Given the description of an element on the screen output the (x, y) to click on. 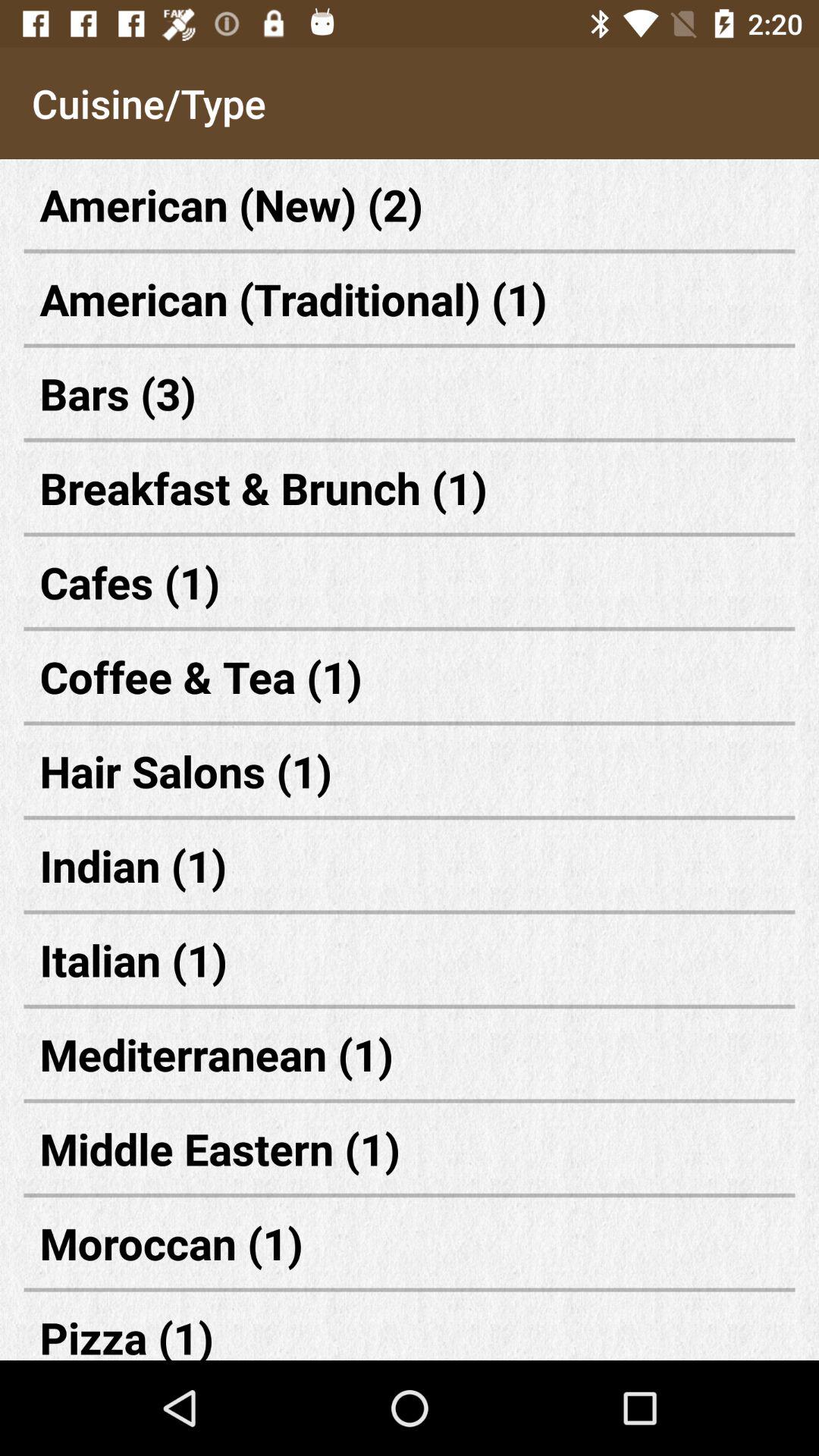
turn on the item above mediterranean (1) icon (409, 959)
